Given the description of an element on the screen output the (x, y) to click on. 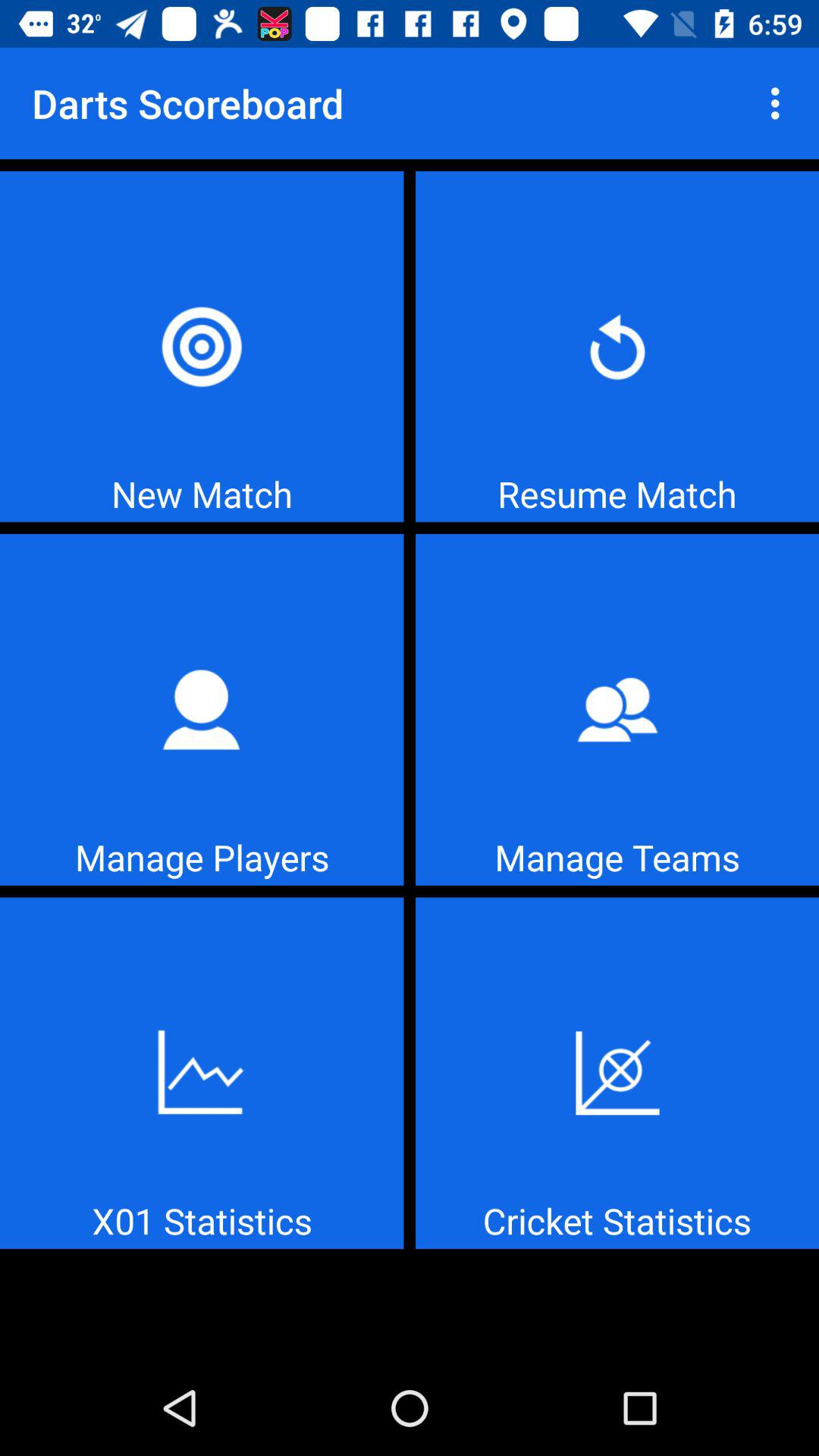
resume match (617, 346)
